Given the description of an element on the screen output the (x, y) to click on. 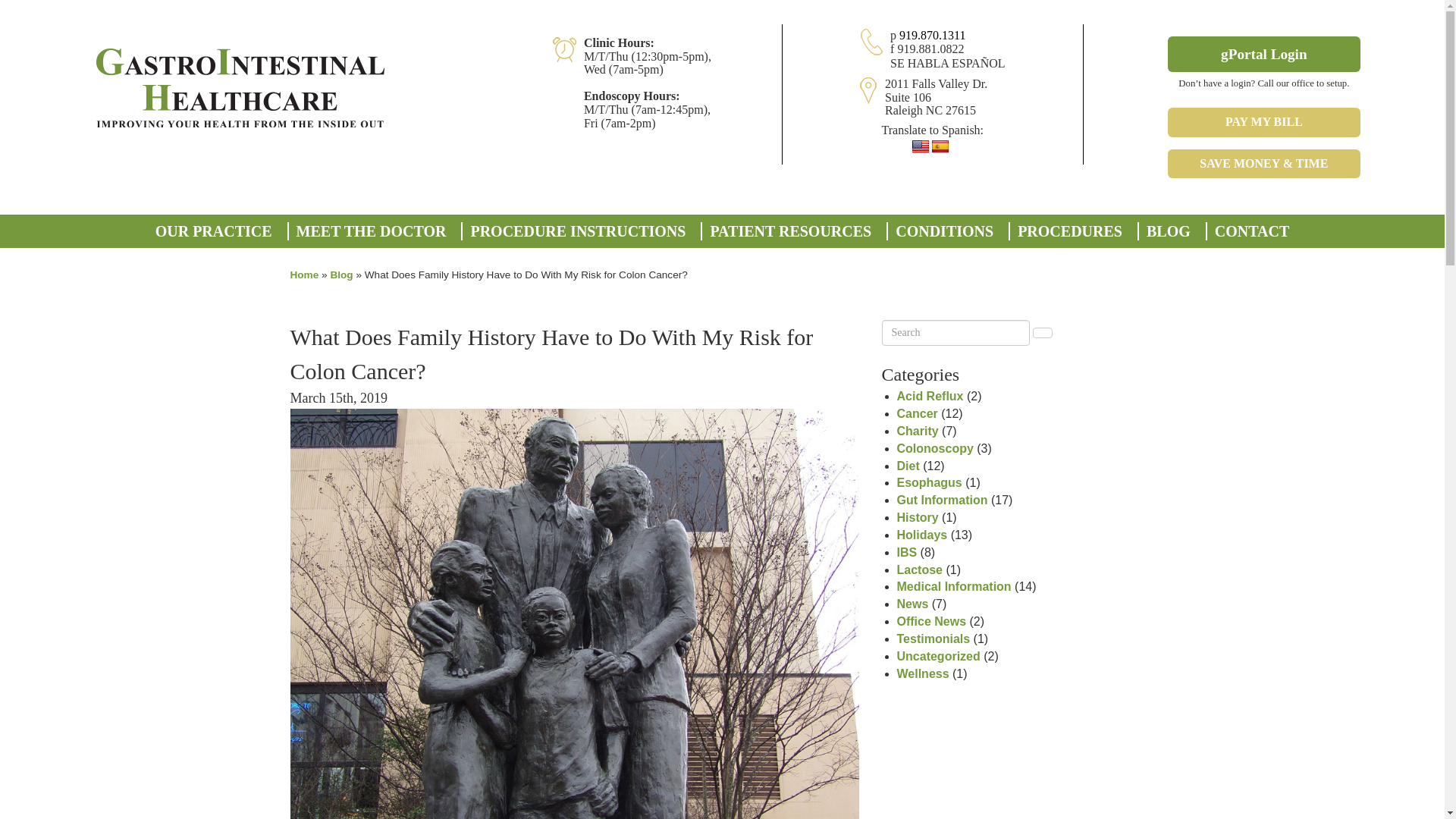
English (920, 146)
PAY MY BILL (1263, 122)
OUR PRACTICE (213, 230)
919.870.1311 (932, 34)
Spanish (940, 146)
gPortal Login (1263, 54)
